Given the description of an element on the screen output the (x, y) to click on. 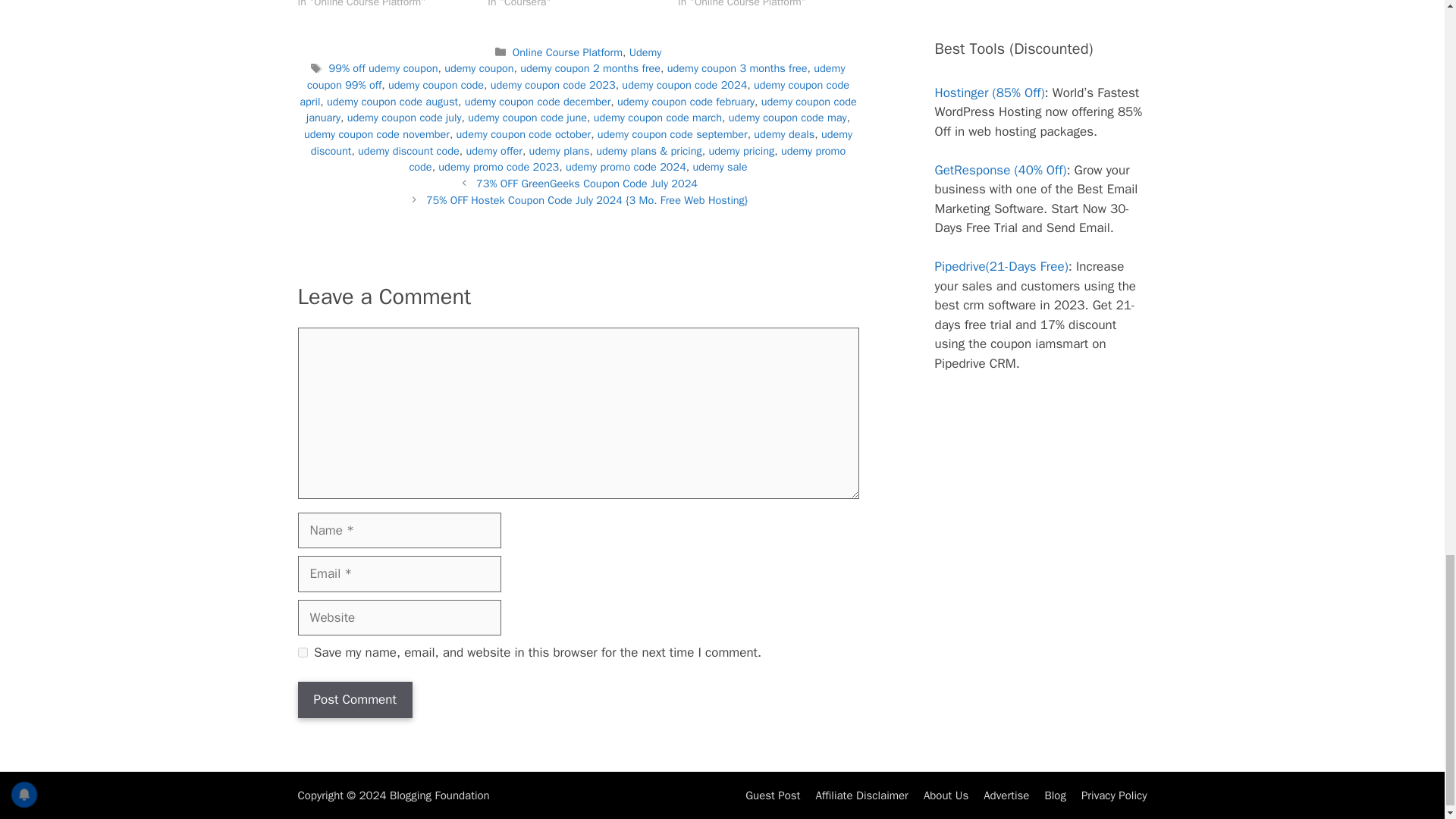
udemy coupon (478, 68)
udemy coupon code february (685, 101)
udemy coupon code june (526, 117)
udemy coupon code july (404, 117)
udemy coupon 3 months free (737, 68)
udemy coupon code october (524, 133)
udemy coupon code august (392, 101)
udemy coupon code december (537, 101)
Online Course Platform (567, 51)
udemy coupon code may (788, 117)
Post Comment (354, 699)
udemy coupon 2 months free (590, 68)
udemy coupon code november (376, 133)
udemy coupon code april (573, 92)
yes (302, 652)
